Given the description of an element on the screen output the (x, y) to click on. 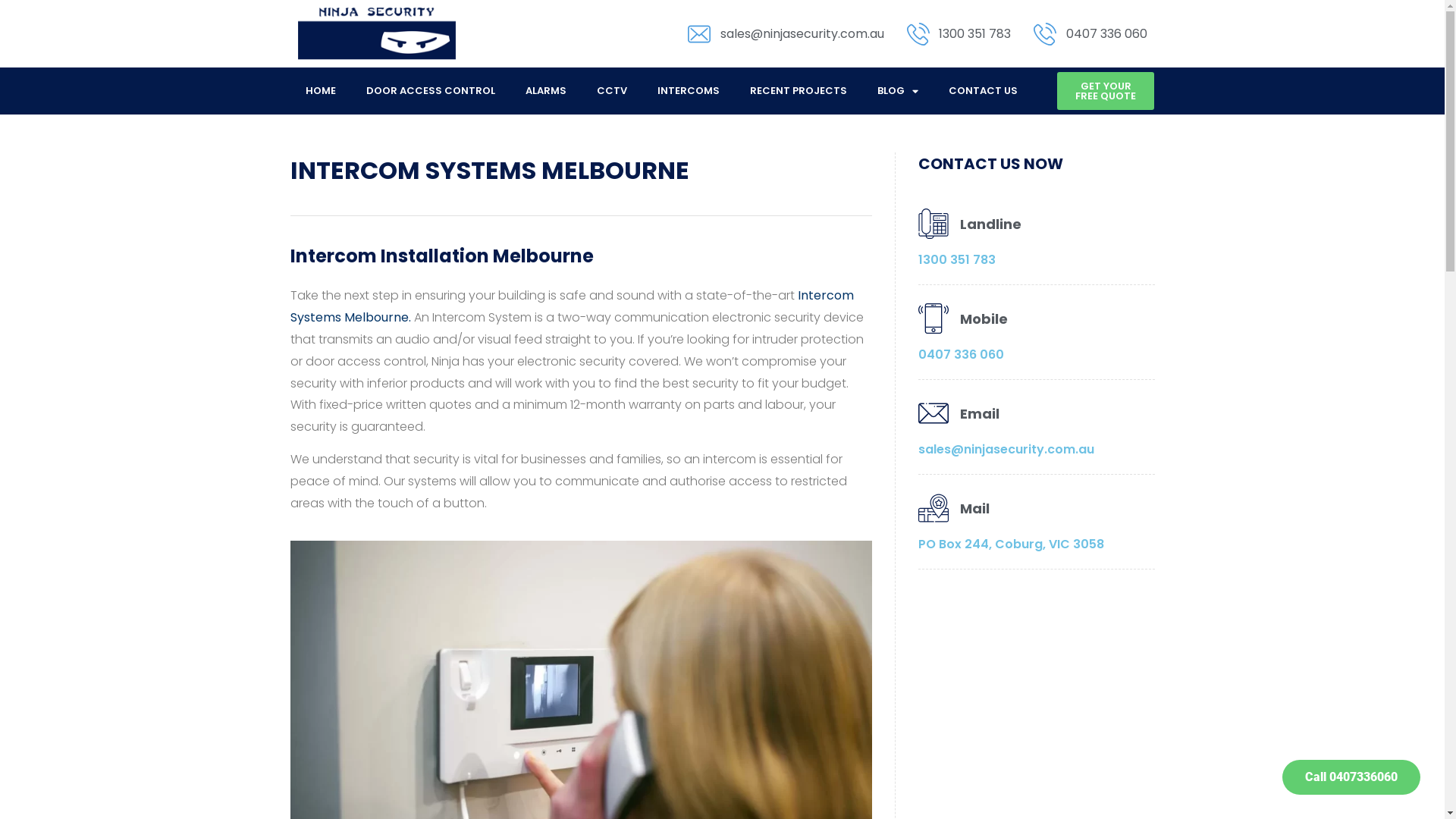
1300 351 783 Element type: text (958, 33)
CCTV Element type: text (610, 90)
RECENT PROJECTS Element type: text (797, 90)
0407 336 060 Element type: text (960, 354)
0407 336 060 Element type: text (1090, 33)
INTERCOMS Element type: text (687, 90)
1300 351 783 Element type: text (955, 259)
sales@ninjasecurity.com.au Element type: text (785, 33)
ALARMS Element type: text (544, 90)
PO Box 244, Coburg, VIC 3058 Element type: text (1010, 543)
Call 0407336060 Element type: text (1351, 776)
sales@ninjasecurity.com.au Element type: text (1005, 449)
BLOG Element type: text (896, 90)
DOOR ACCESS CONTROL Element type: text (429, 90)
GET YOUR
FREE QUOTE Element type: text (1105, 90)
CONTACT US Element type: text (982, 90)
HOME Element type: text (319, 90)
